Given the description of an element on the screen output the (x, y) to click on. 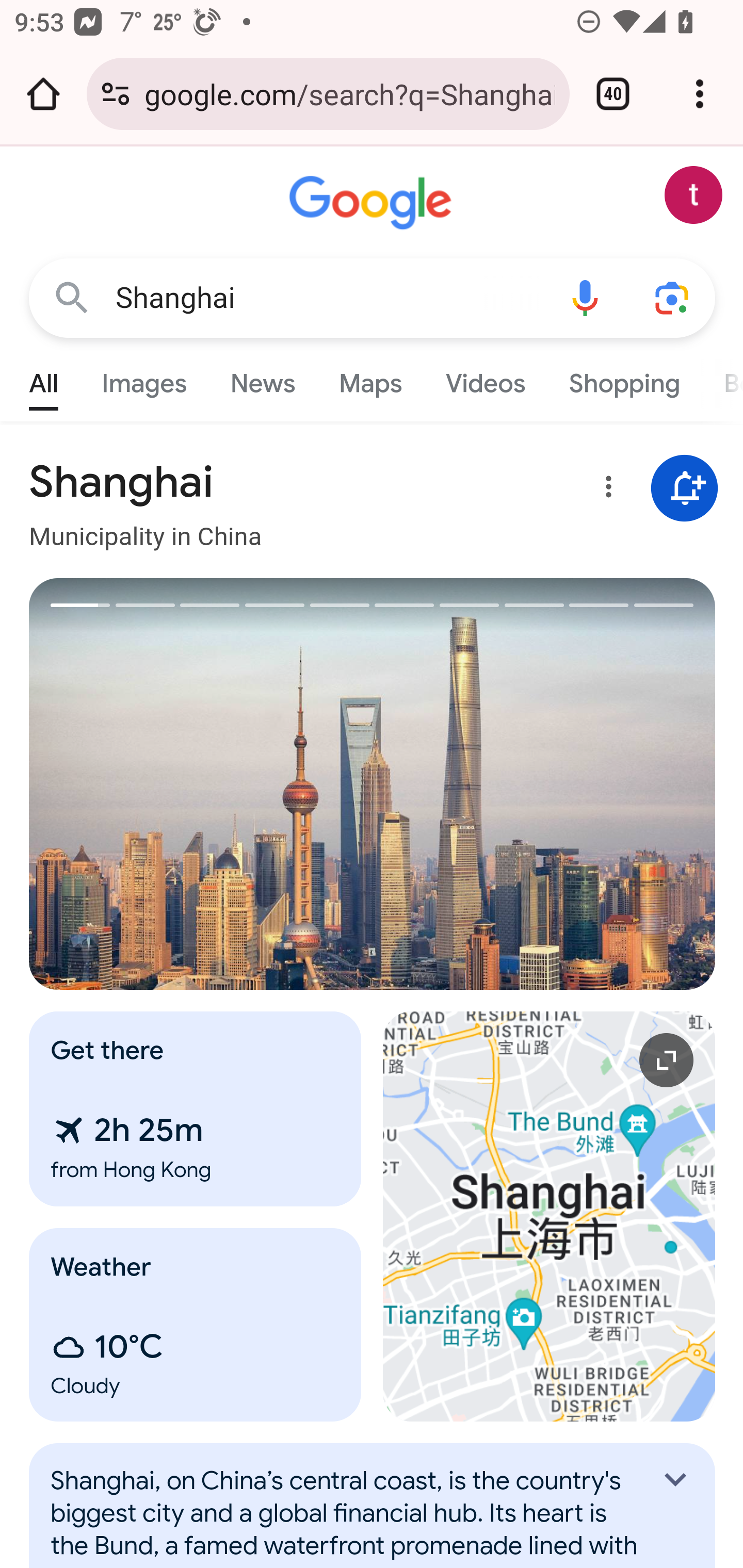
Open the home page (43, 93)
Connection is secure (115, 93)
Switch or close tabs (612, 93)
Customize and control Google Chrome (699, 93)
Google (372, 203)
Google Search (71, 296)
Search using your camera or photos (672, 296)
Shanghai (328, 297)
Images (144, 378)
News (262, 378)
Maps (369, 378)
Videos (485, 378)
Shopping (623, 378)
Get notifications about Shanghai (684, 489)
More options (605, 489)
Previous image (200, 783)
Next image (544, 783)
Expand map (549, 1216)
Weather 10° Cloudy (195, 1324)
